Given the description of an element on the screen output the (x, y) to click on. 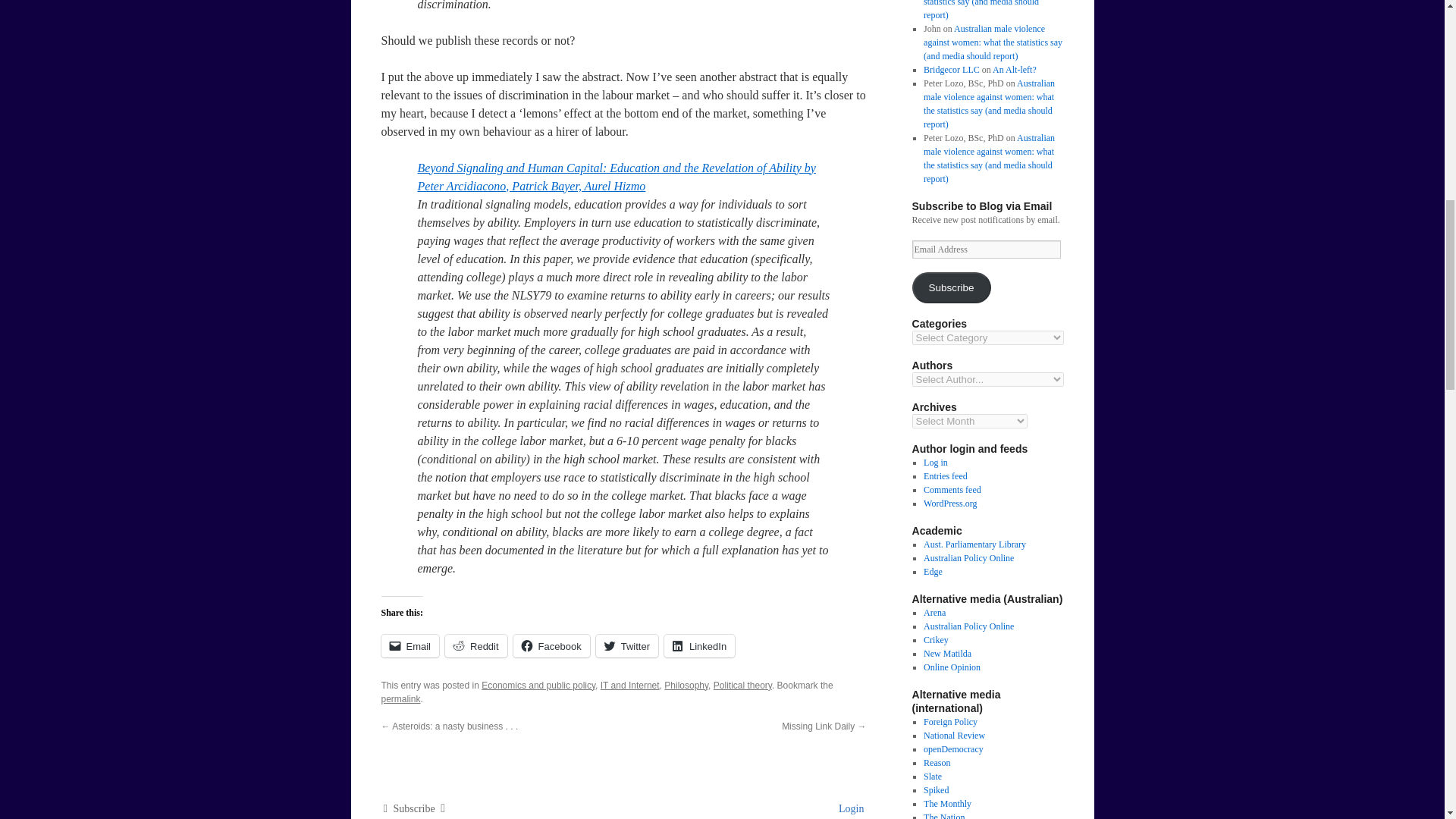
Political theory (742, 685)
Click to share on Reddit (475, 645)
Reddit (475, 645)
Philosophy (685, 685)
Twitter (626, 645)
Click to email a link to a friend (409, 645)
IT and Internet (629, 685)
Login (849, 808)
Click to share on Twitter (626, 645)
Facebook (551, 645)
Click to share on Facebook (551, 645)
permalink (400, 698)
Economics and public policy (538, 685)
